Given the description of an element on the screen output the (x, y) to click on. 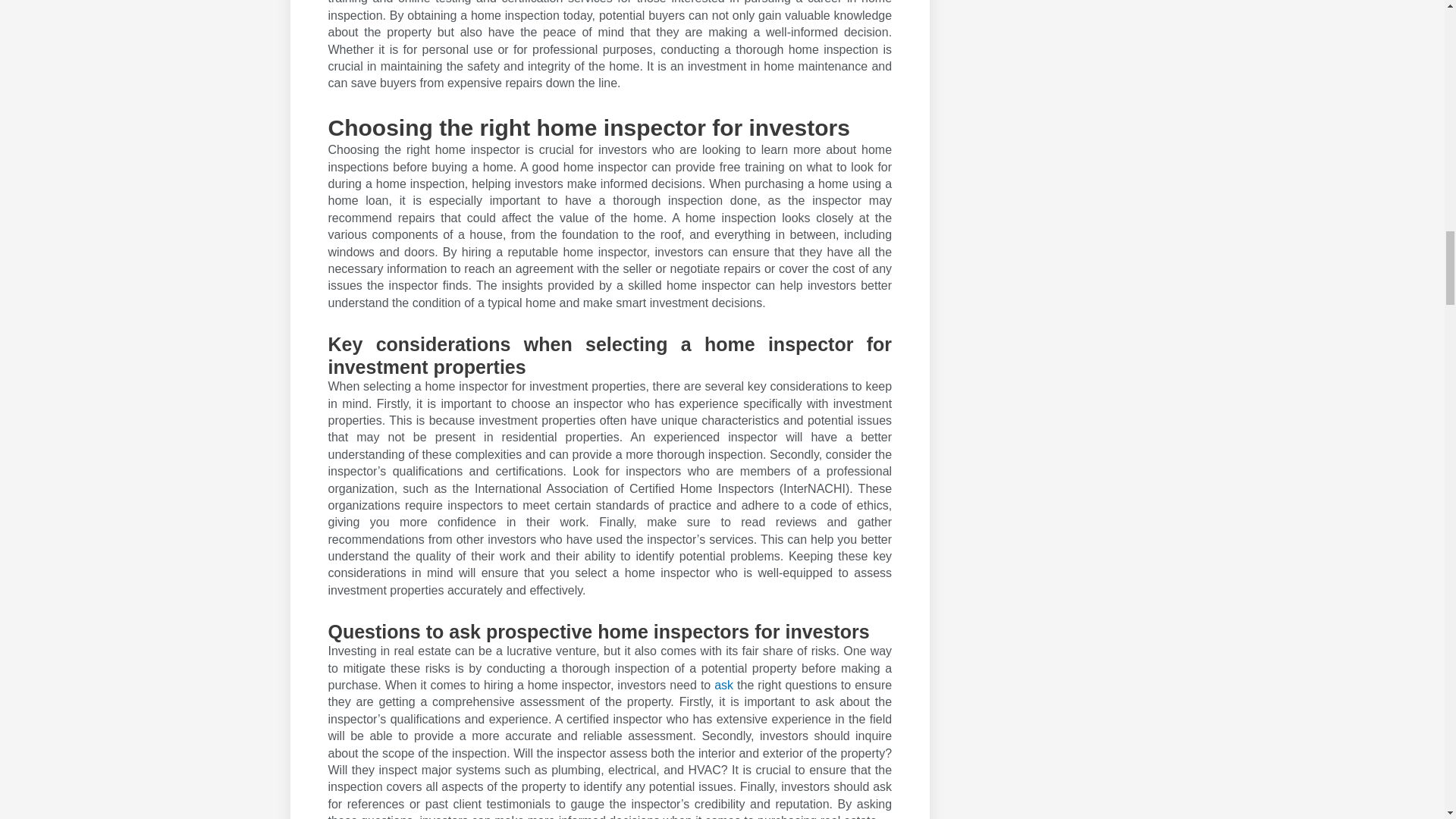
ask (725, 684)
contact (725, 684)
